Given the description of an element on the screen output the (x, y) to click on. 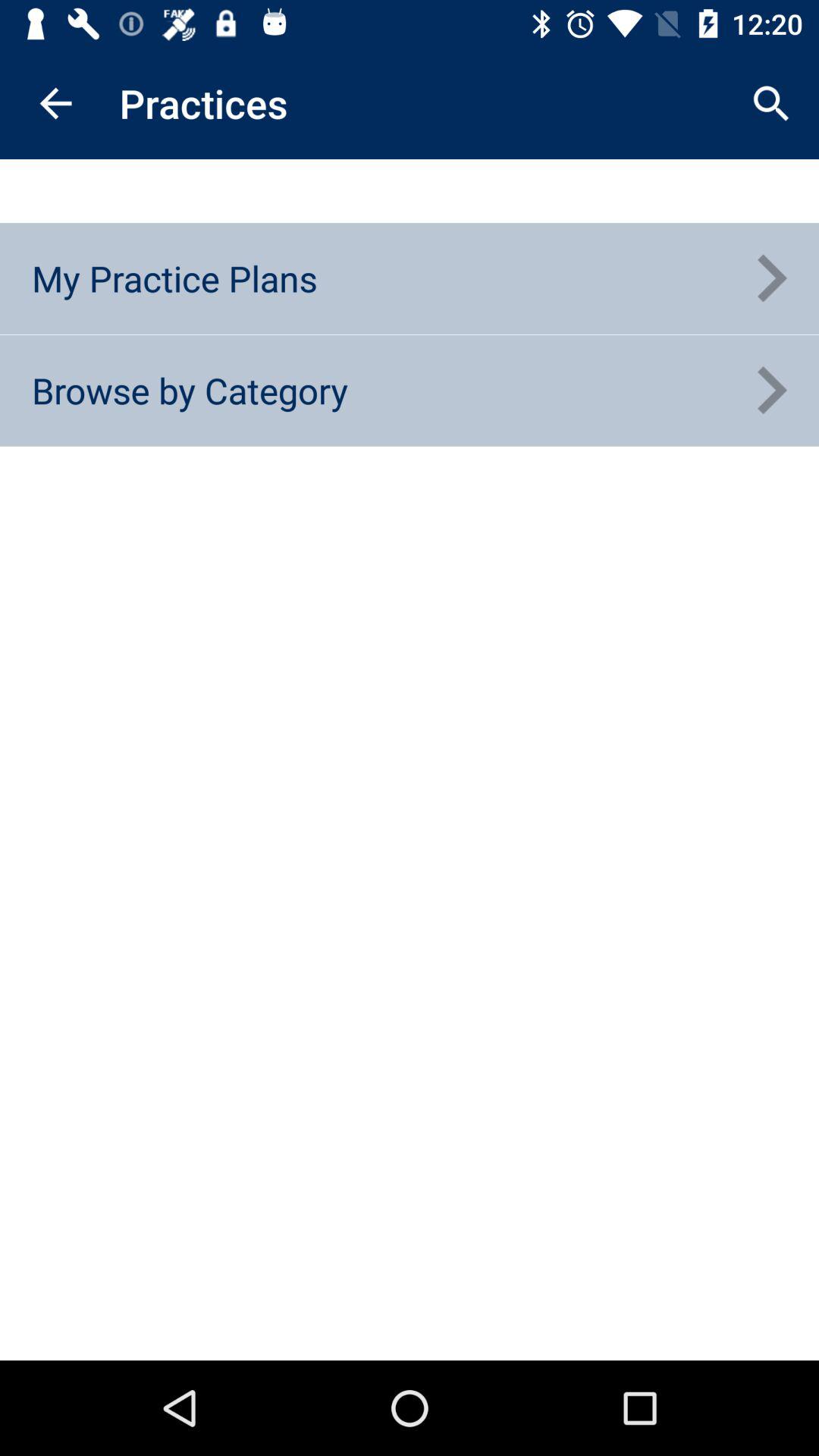
open browse by category item (189, 390)
